Given the description of an element on the screen output the (x, y) to click on. 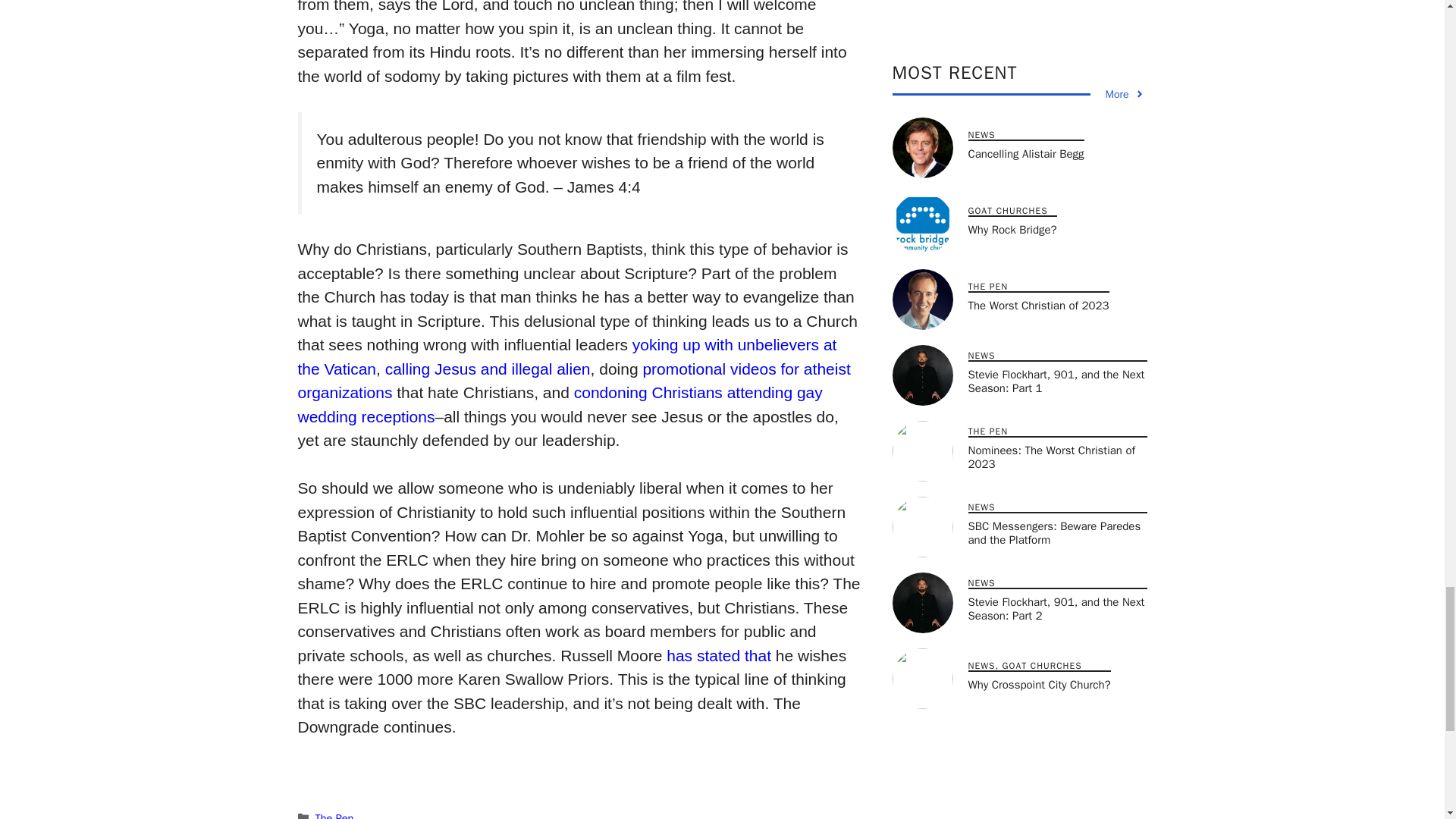
yoking up with unbelievers at the Vatican (566, 356)
The Pen (334, 815)
promotional videos for atheist organizations (573, 381)
calling Jesus and illegal alien (488, 368)
condoning Christians attending gay wedding receptions (559, 404)
has stated that (718, 655)
